Given the description of an element on the screen output the (x, y) to click on. 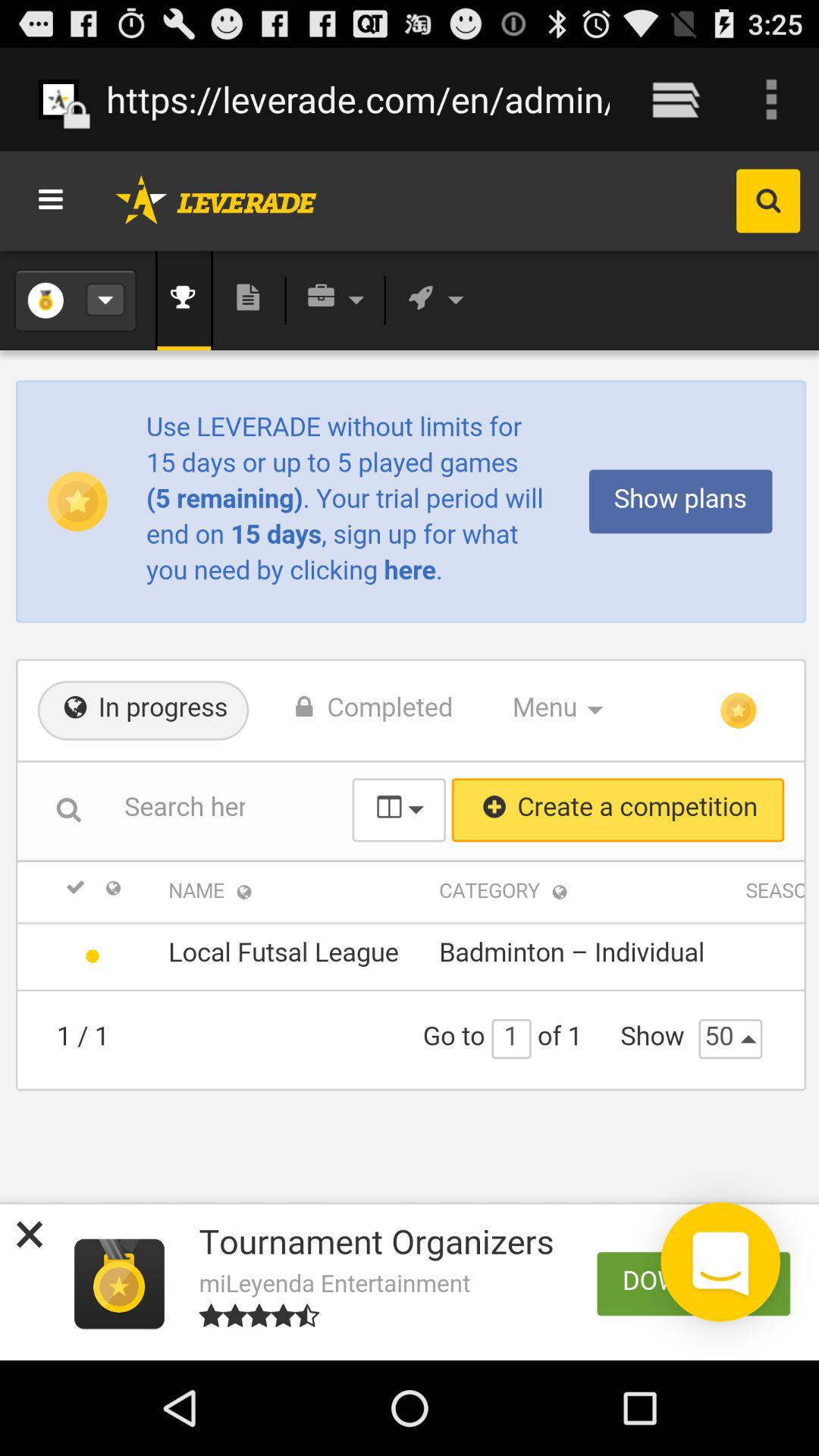
choose the icon below the https leverade com icon (409, 755)
